Given the description of an element on the screen output the (x, y) to click on. 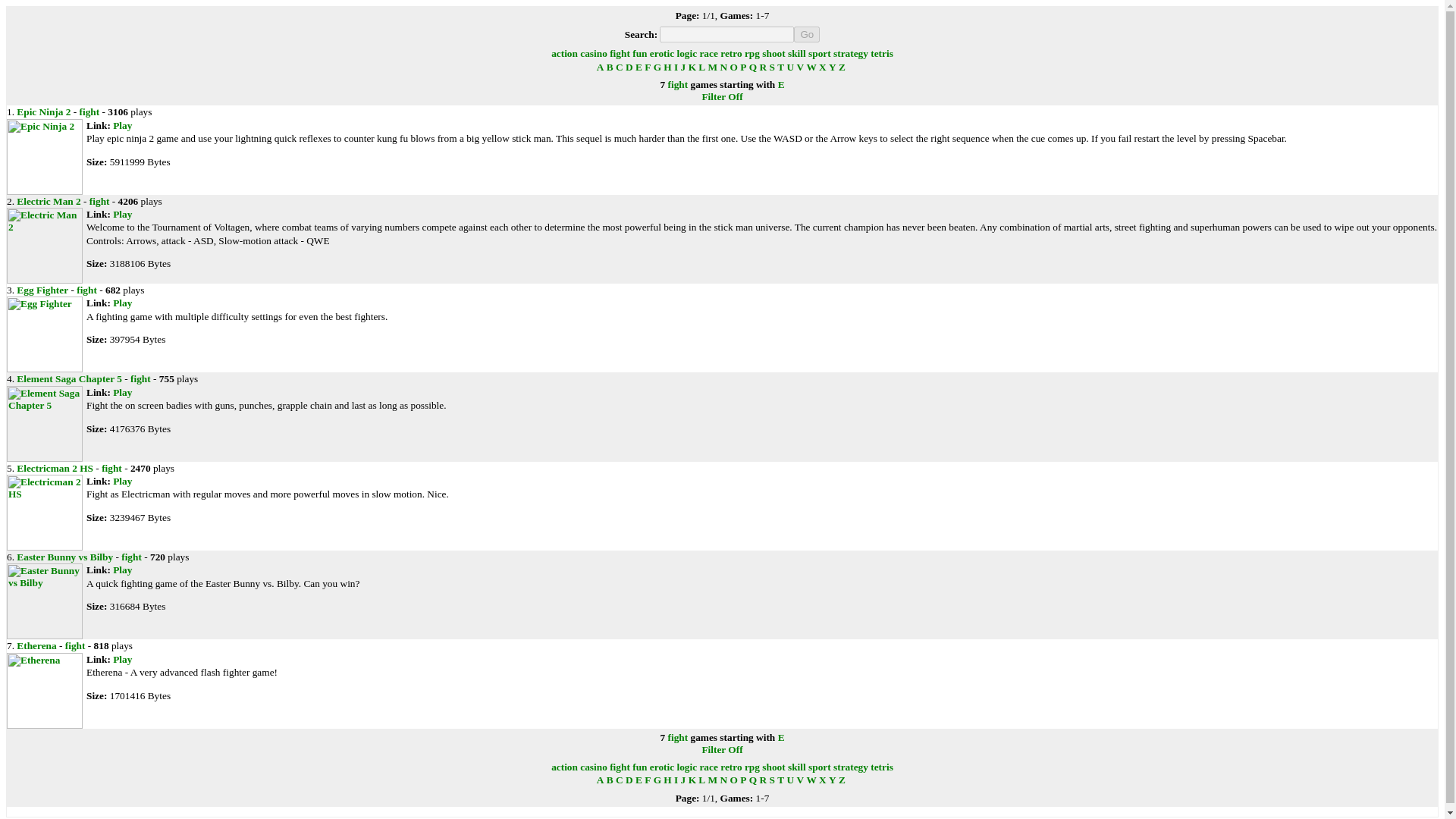
Display only 'fun' games... (638, 52)
Display only 'erotic' games... (661, 52)
Go (806, 34)
retro (730, 52)
skill (796, 52)
Display only 'strategy' games... (849, 52)
Display only 'race' games... (707, 52)
rpg (752, 52)
Display only 'retro' games... (730, 52)
Go (806, 34)
